Given the description of an element on the screen output the (x, y) to click on. 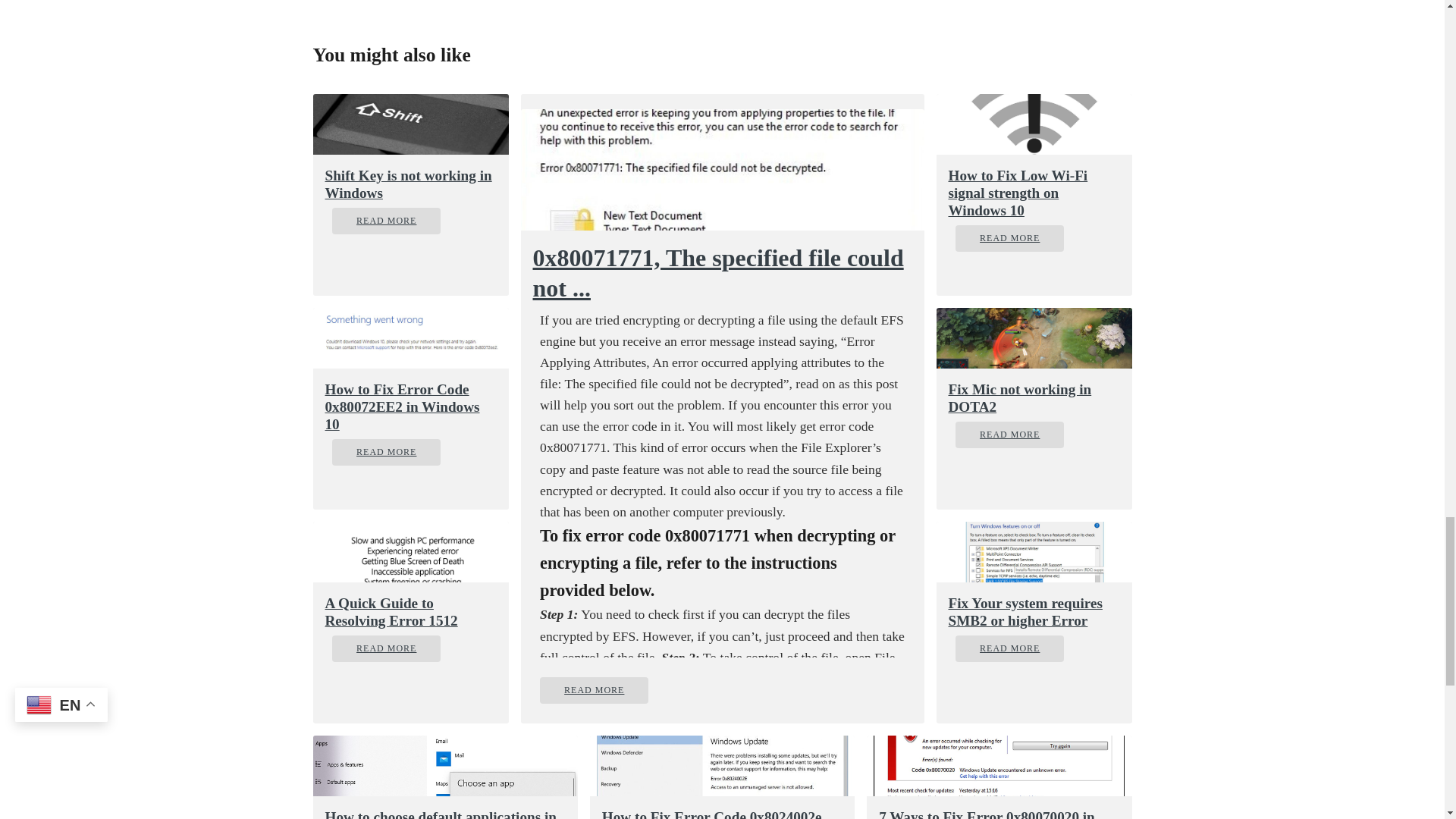
READ MORE (593, 690)
READ MORE (386, 452)
How to Fix Low Wi-Fi signal strength on Windows 10 (1033, 193)
READ MORE (1009, 238)
READ MORE (386, 221)
How to Fix Error Code 0x80072EE2 in Windows 10 (410, 406)
0x80071771, The specified file could not ... (721, 272)
Shift Key is not working in Windows (410, 184)
